Given the description of an element on the screen output the (x, y) to click on. 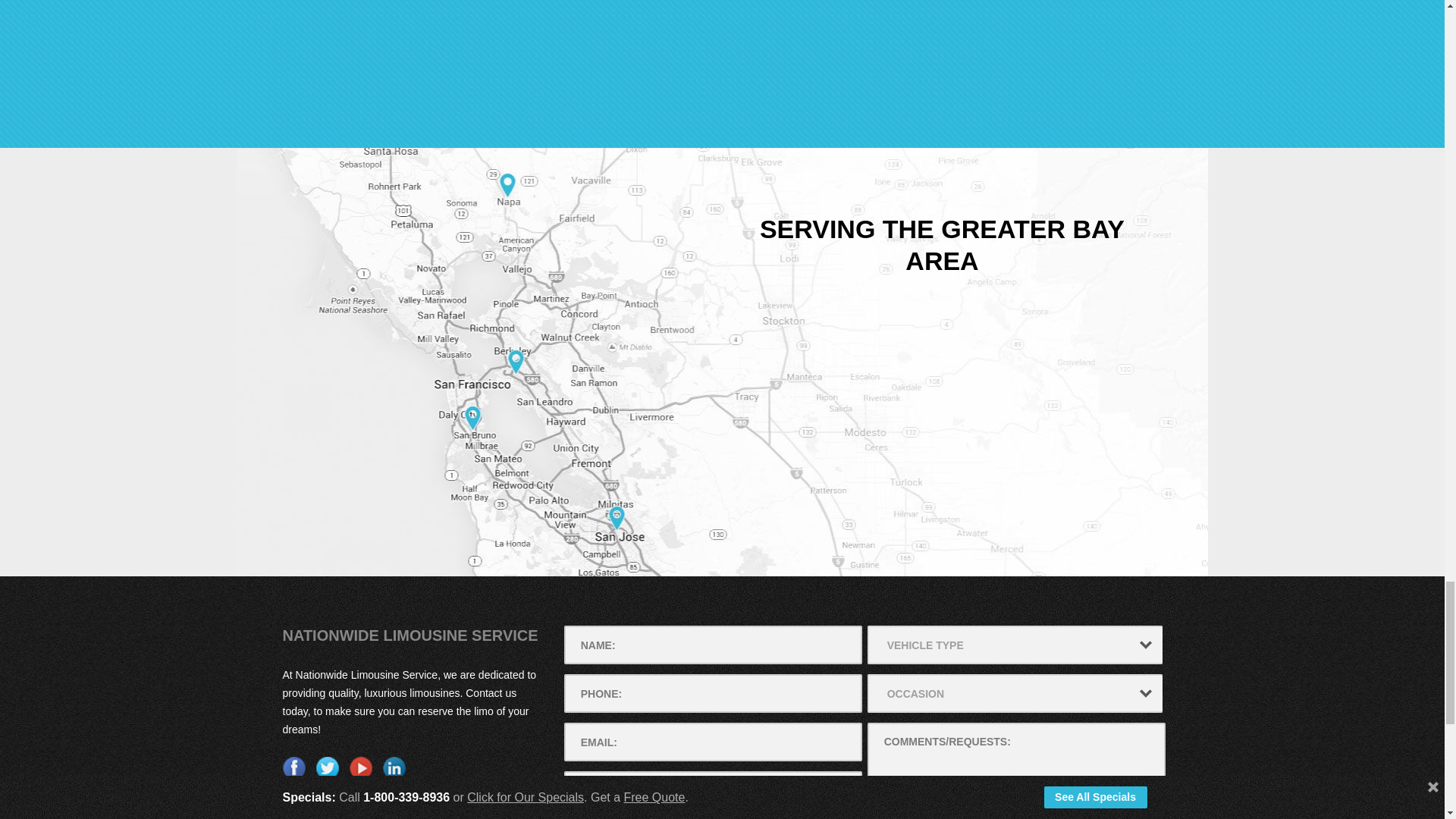
Follow us on Facebook (293, 767)
Follow us on Twitter (326, 767)
Follow us on LinkedIn (392, 767)
View our YouTube Videos (360, 767)
